Given the description of an element on the screen output the (x, y) to click on. 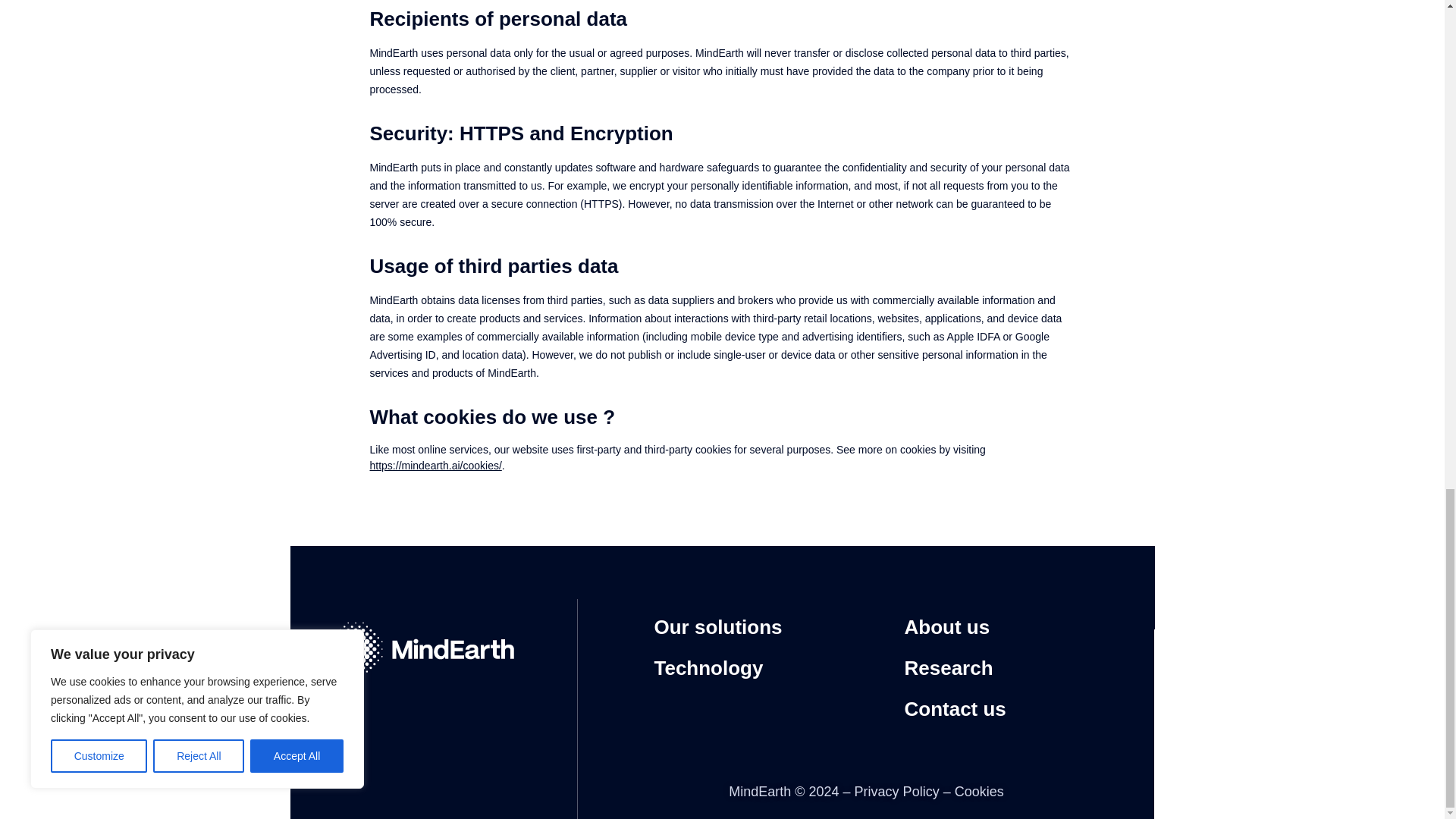
logo-white (421, 648)
Contact us (955, 708)
Research (948, 667)
Our solutions (717, 626)
Privacy Policy (896, 791)
About us (947, 626)
Technology (707, 667)
